Given the description of an element on the screen output the (x, y) to click on. 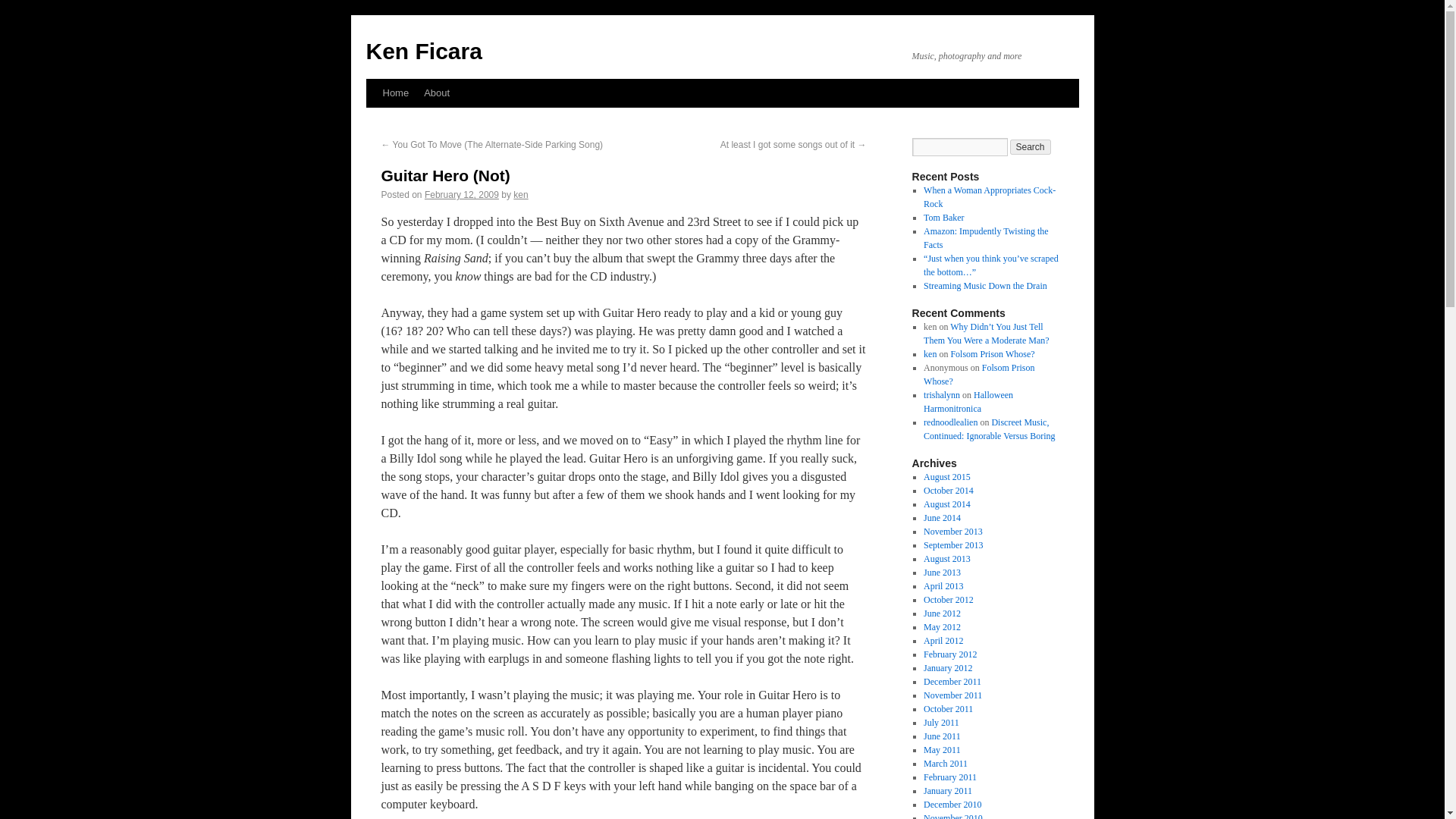
trishalynn (941, 394)
ken (520, 194)
Search (1030, 146)
ken (929, 353)
June 2014 (941, 517)
August 2014 (947, 503)
Ken Ficara (423, 50)
September 2013 (952, 544)
View all posts by ken (520, 194)
April 2013 (942, 585)
